Given the description of an element on the screen output the (x, y) to click on. 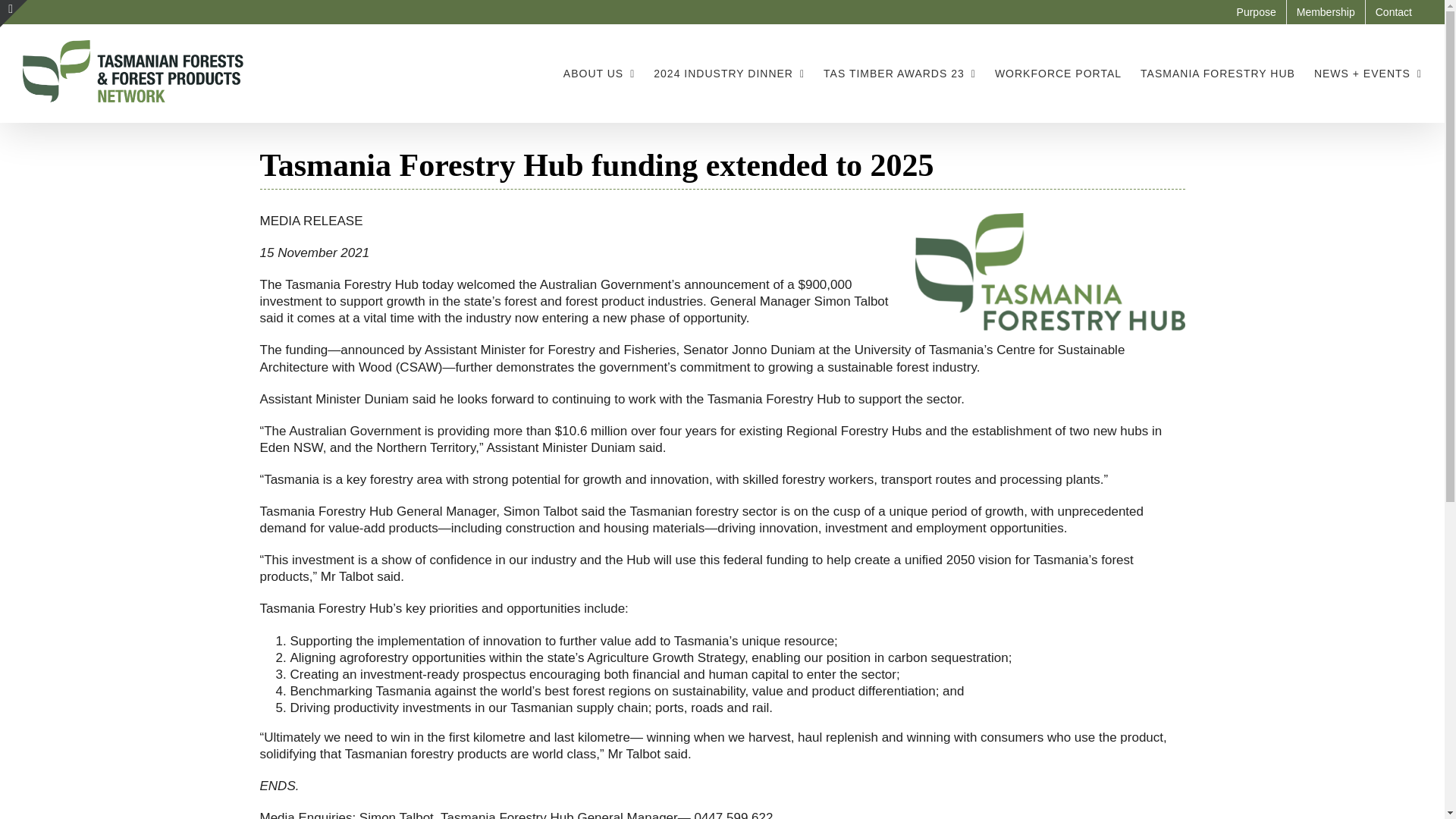
Membership (1326, 12)
Contact (1393, 12)
TASMANIA FORESTRY HUB (1217, 73)
Purpose (1256, 12)
TAS TIMBER AWARDS 23 (899, 73)
2024 INDUSTRY DINNER (729, 73)
2024 INDUSTRY DINNER (729, 73)
WORKFORCE PORTAL (1057, 73)
